Given the description of an element on the screen output the (x, y) to click on. 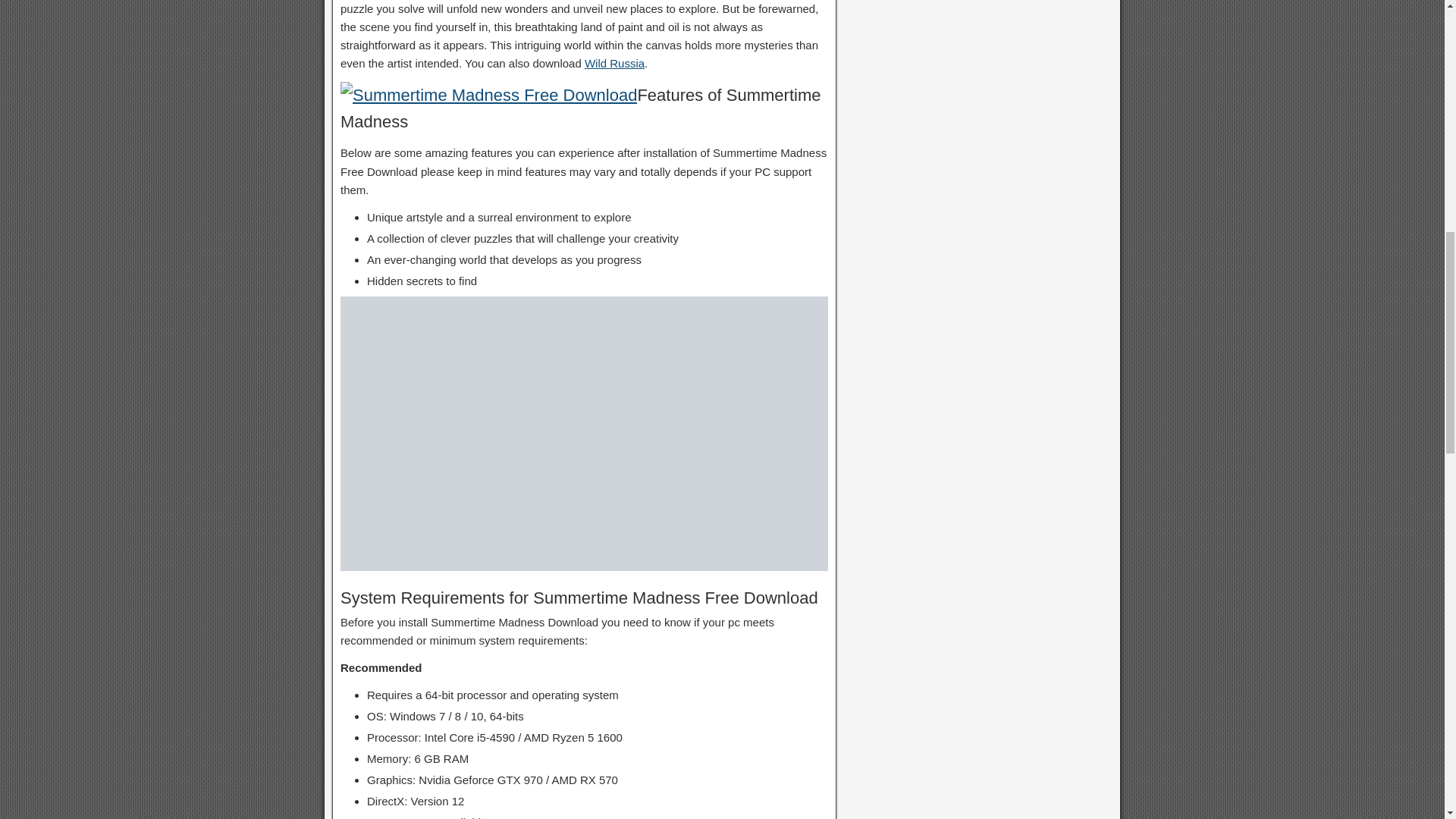
Summertime Madness Free Download (584, 433)
Wild Russia (615, 62)
Summertime Madness Free Download (488, 94)
